Given the description of an element on the screen output the (x, y) to click on. 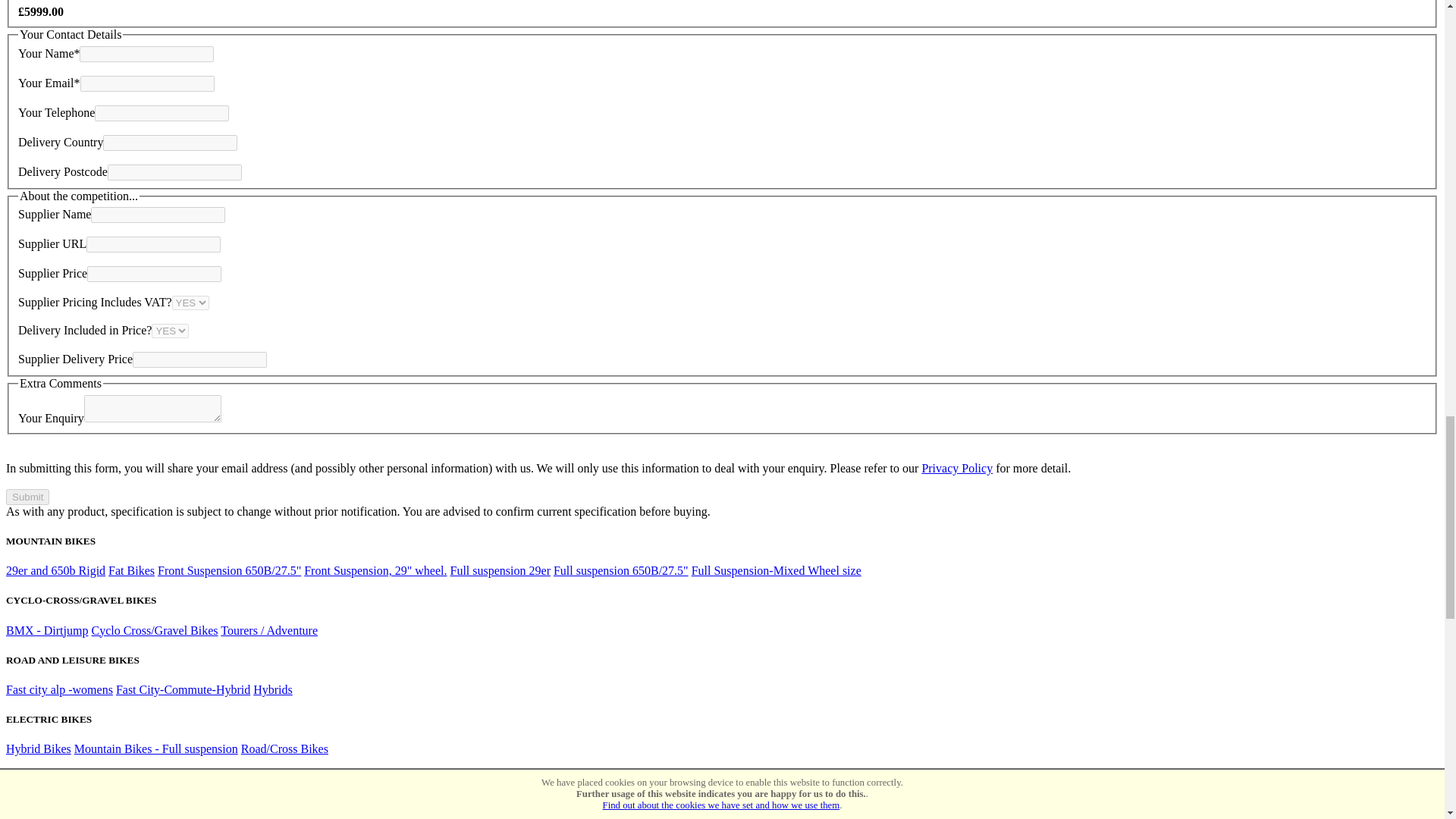
Submit (27, 496)
